Given the description of an element on the screen output the (x, y) to click on. 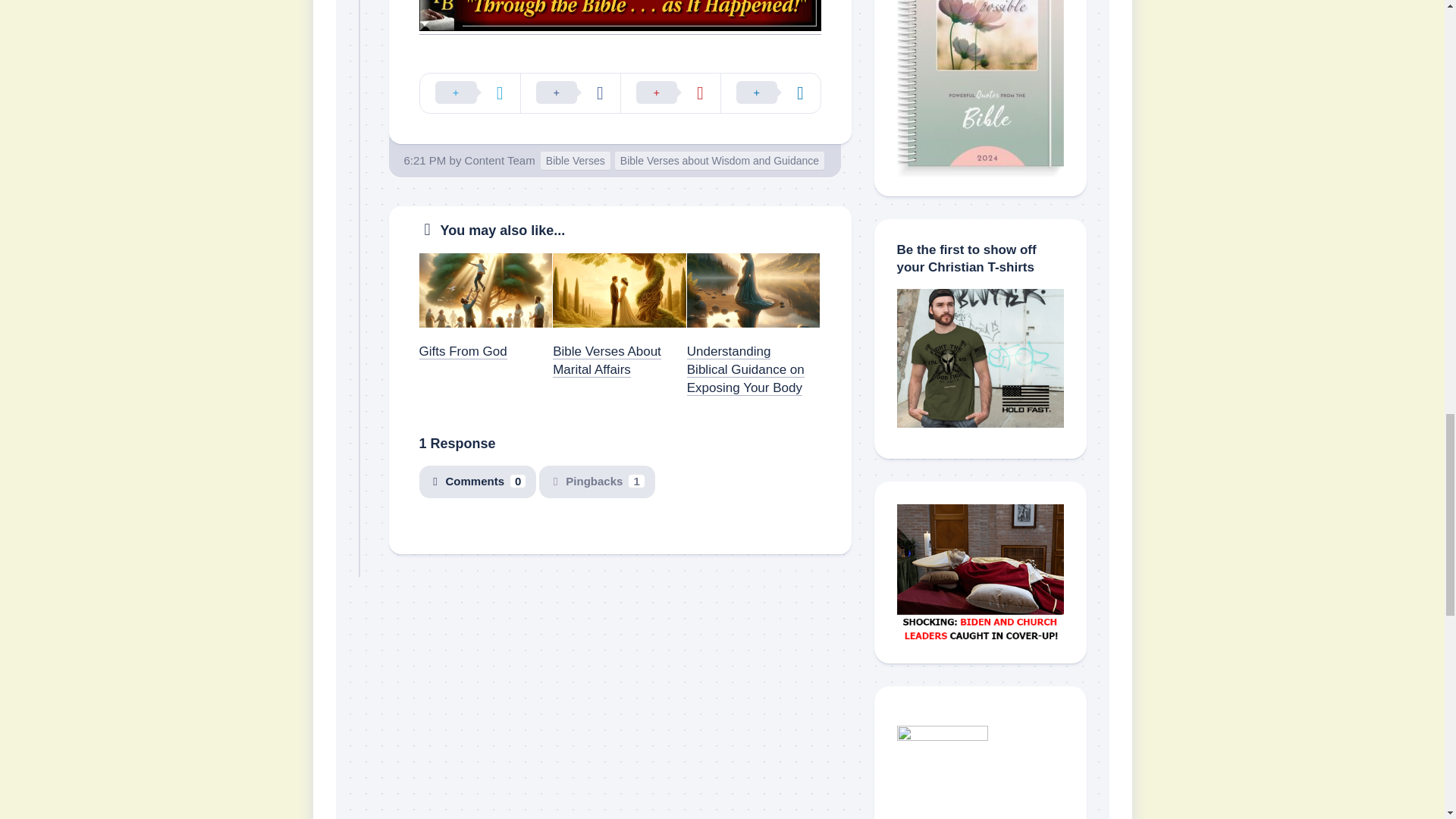
Bible Verses about Wisdom and Guidance (719, 160)
Pingbacks1 (595, 481)
Share on X (469, 93)
Comments0 (477, 481)
Posts by Content Team (499, 160)
Gifts From God (462, 350)
Share on LinkedIn (770, 93)
Understanding Biblical Guidance on Exposing Your Body (746, 368)
Share on Pinterest (670, 93)
Get your Daily Planner with Bible Verses (979, 88)
